Given the description of an element on the screen output the (x, y) to click on. 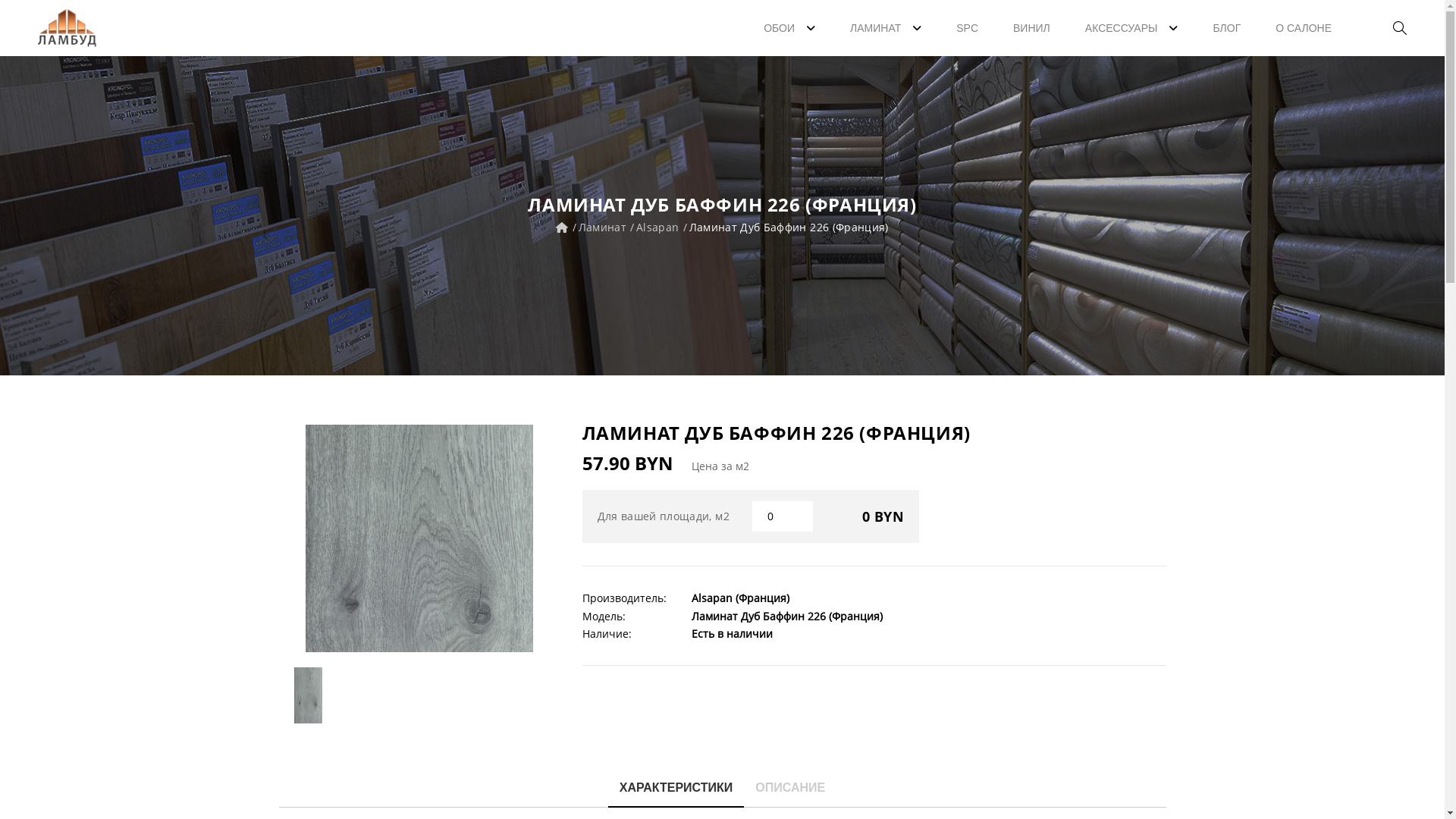
Alsapan Element type: text (657, 226)
SPC Element type: text (967, 27)
